Given the description of an element on the screen output the (x, y) to click on. 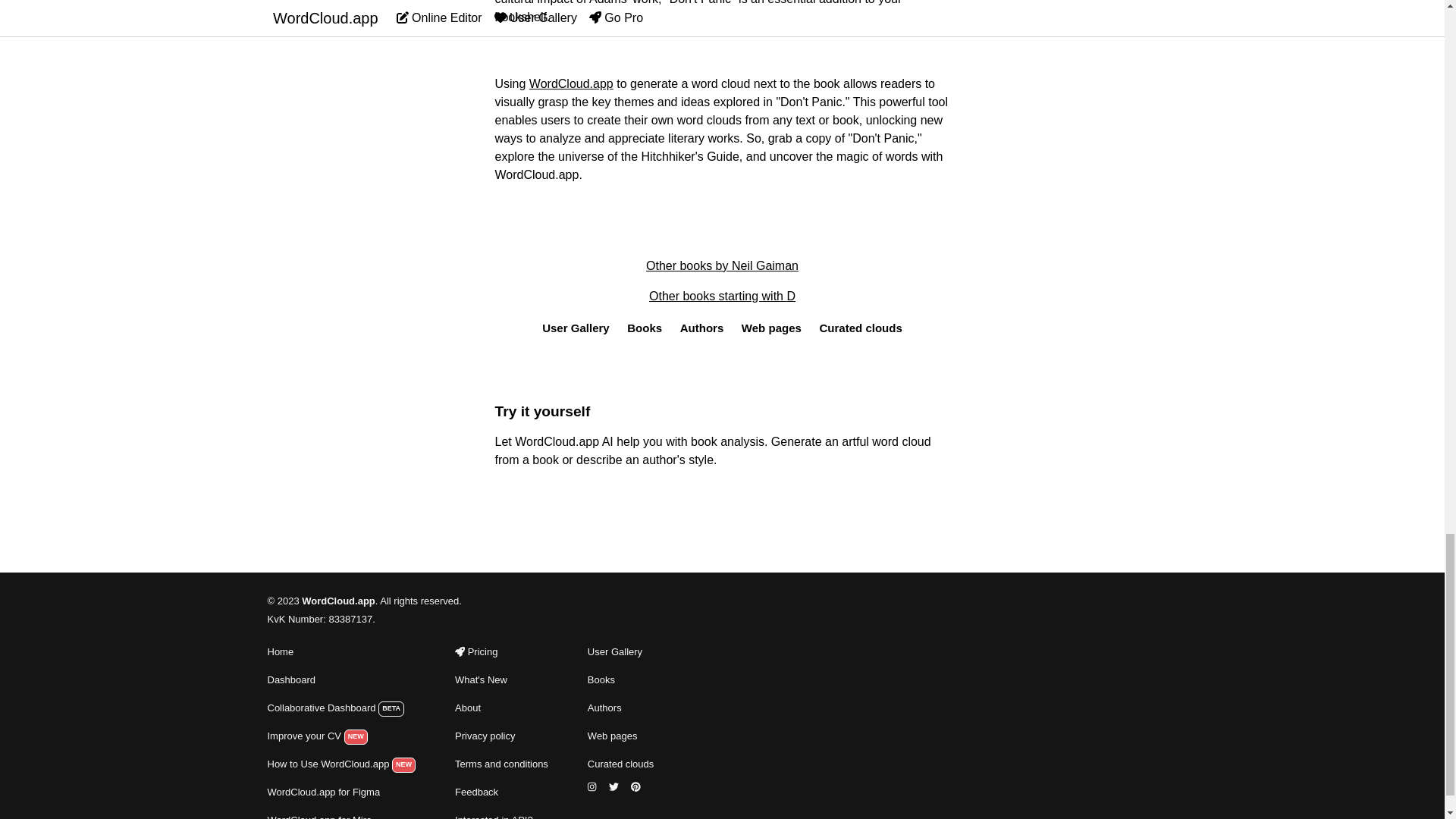
Improve your CV NEW (340, 736)
WordCloud.app for Miro (340, 815)
Start now (722, 499)
WordClouds for hundreds of books (620, 679)
Books (644, 329)
Other books by Neil Gaiman (721, 266)
WordCloud.app dashboard (340, 708)
Authors (702, 329)
User Gallery (575, 329)
Home (340, 651)
